Given the description of an element on the screen output the (x, y) to click on. 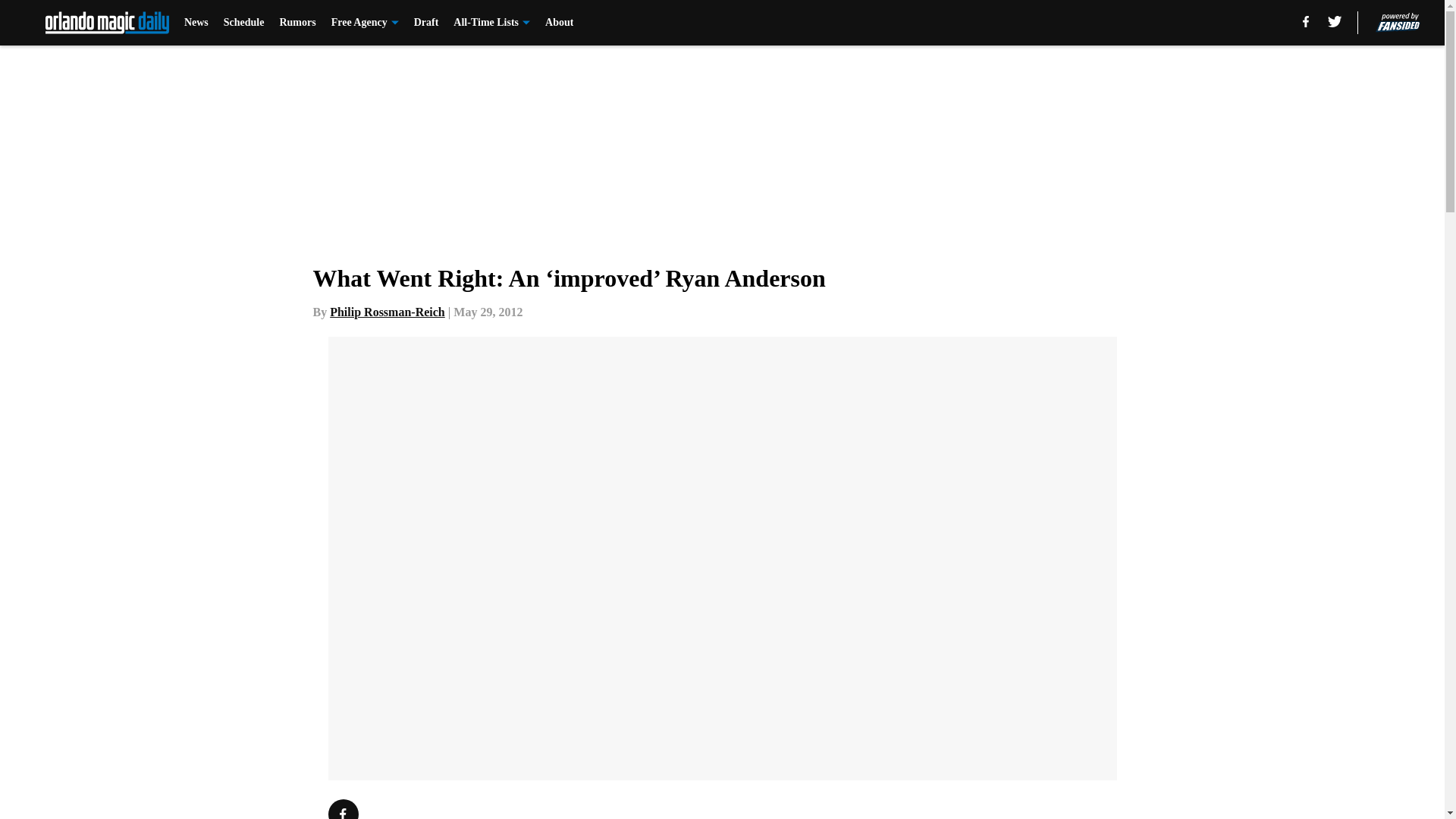
Free Agency (364, 22)
Philip Rossman-Reich (387, 311)
Schedule (244, 22)
Draft (426, 22)
News (196, 22)
Rumors (297, 22)
About (558, 22)
All-Time Lists (490, 22)
